Given the description of an element on the screen output the (x, y) to click on. 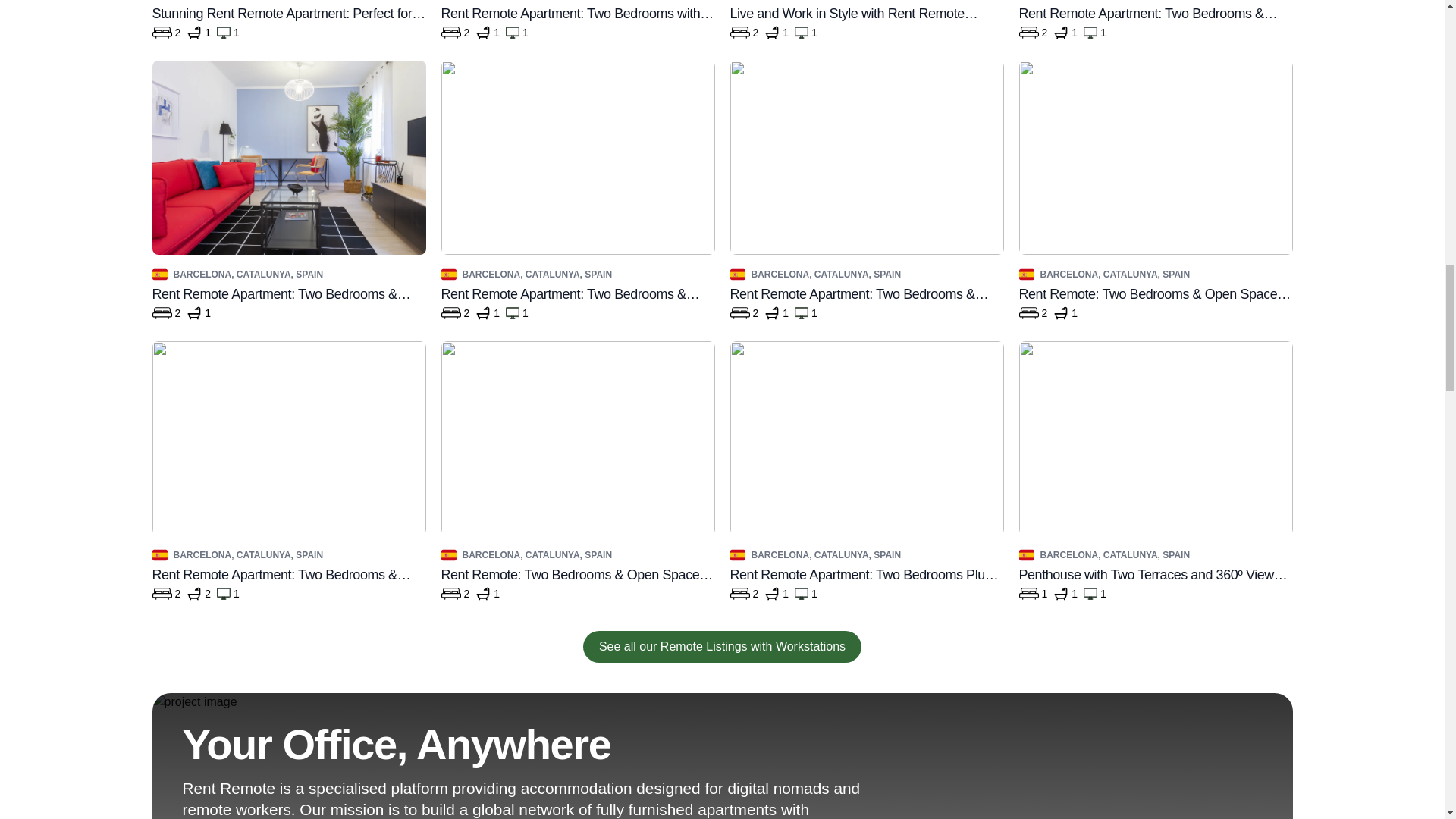
See all our Remote Listings with Workstations (722, 646)
